Given the description of an element on the screen output the (x, y) to click on. 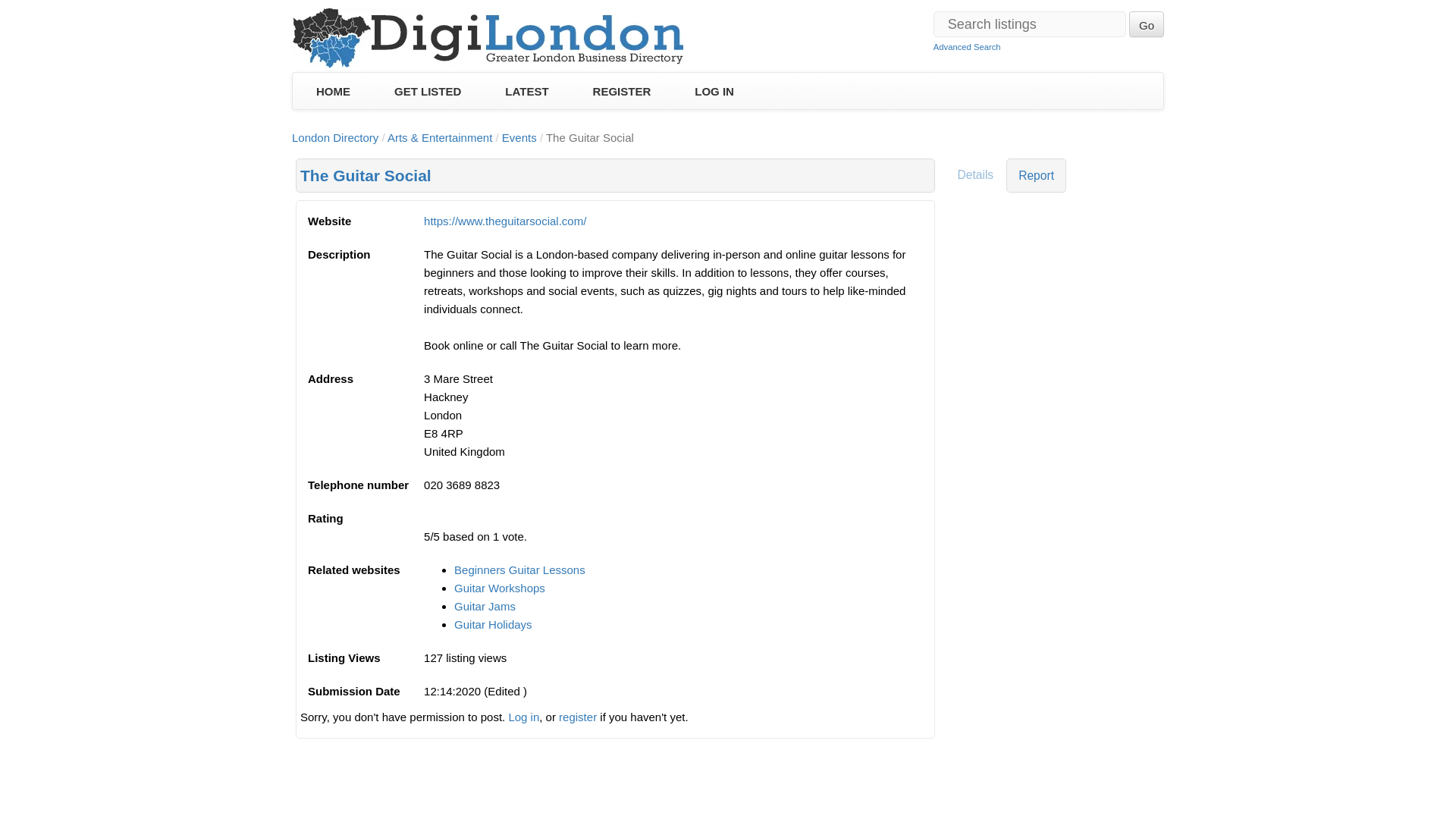
The Guitar Social (364, 175)
Guitar Holidays (493, 624)
Guitar Jams (484, 605)
Go (1146, 23)
GET LISTED (426, 91)
Guitar Workshops (499, 587)
London Directory (335, 137)
Beginners Guitar Lessons (519, 569)
Advanced Search (967, 46)
LOG IN (713, 91)
Report (1035, 175)
Events (519, 137)
register (577, 716)
HOME (332, 91)
Log in (523, 716)
